Given the description of an element on the screen output the (x, y) to click on. 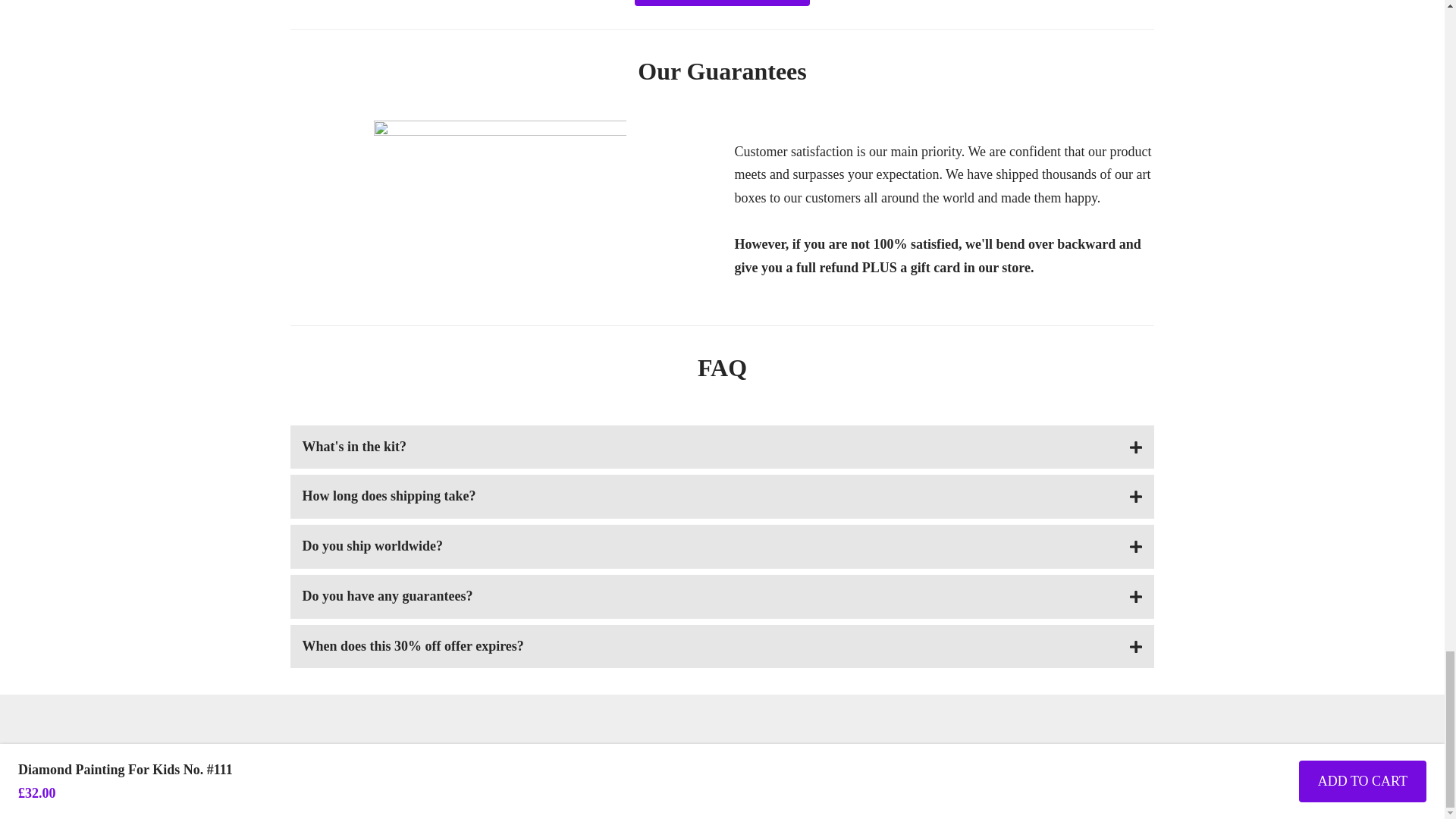
Do you ship worldwide? (721, 546)
Do you have any guarantees? (721, 596)
How long does shipping take? (721, 496)
View Collection Page (721, 2)
What's in the kit? (721, 447)
